Given the description of an element on the screen output the (x, y) to click on. 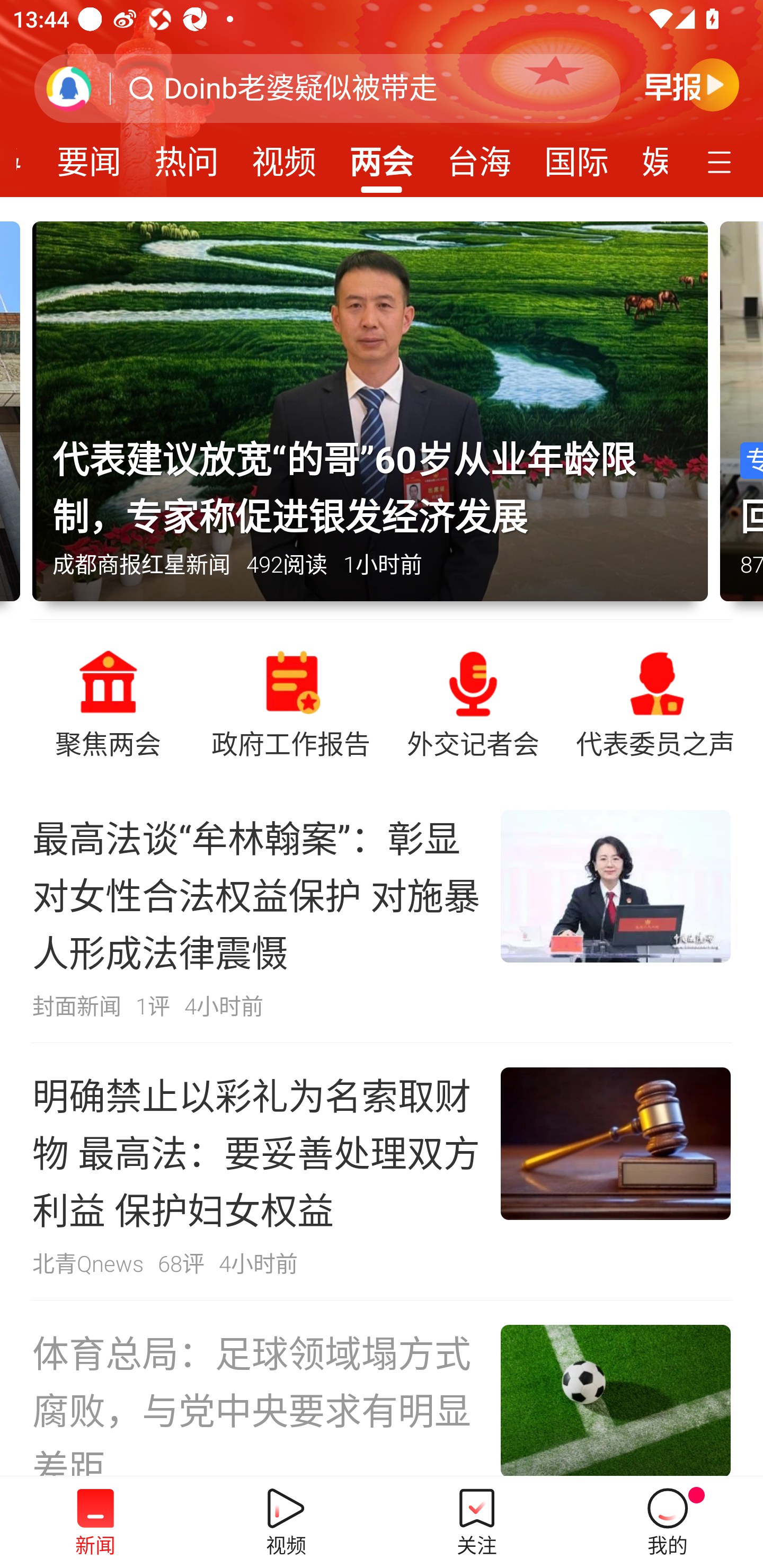
腾讯新闻 (381, 98)
早晚报 (691, 84)
刷新 (68, 88)
Doinb老婆疑似被带走 (300, 88)
要闻 (89, 155)
热问 (186, 155)
视频 (283, 155)
两会 (381, 155)
台海 (478, 155)
国际 (575, 155)
 定制频道 (721, 160)
聚焦两会 (107, 702)
政府工作报告 (290, 702)
外交记者会 (473, 702)
代表委员之声 (655, 702)
最高法谈“牟林翰案”：彰显对女性合法权益保护 对施暴人形成法律震慑 封面新闻 1评 4小时前 (381, 913)
体育总局：足球领域塌方式腐败，与党中央要求有明显差距 (381, 1388)
